Given the description of an element on the screen output the (x, y) to click on. 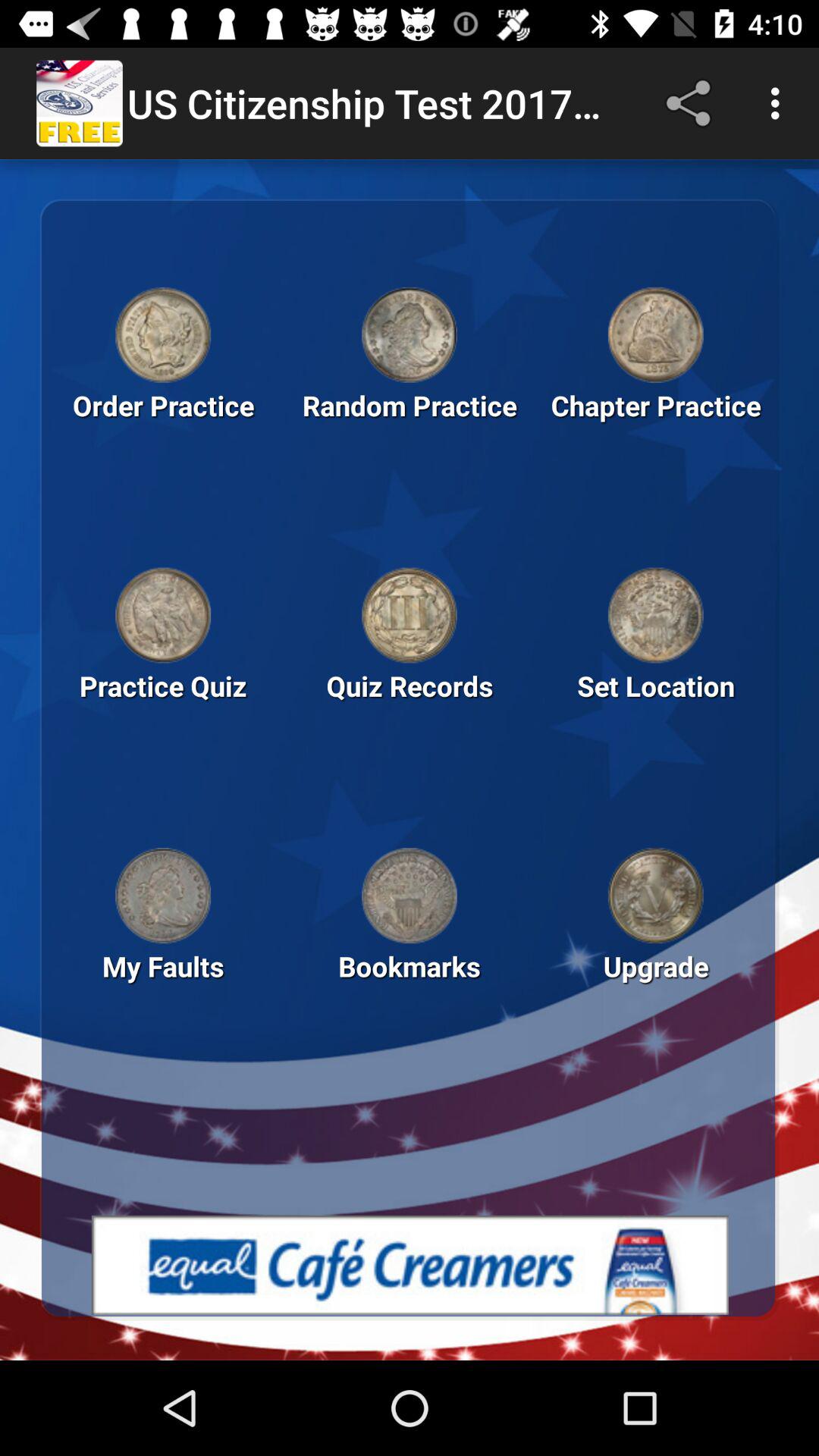
everyone likes records (655, 615)
